Given the description of an element on the screen output the (x, y) to click on. 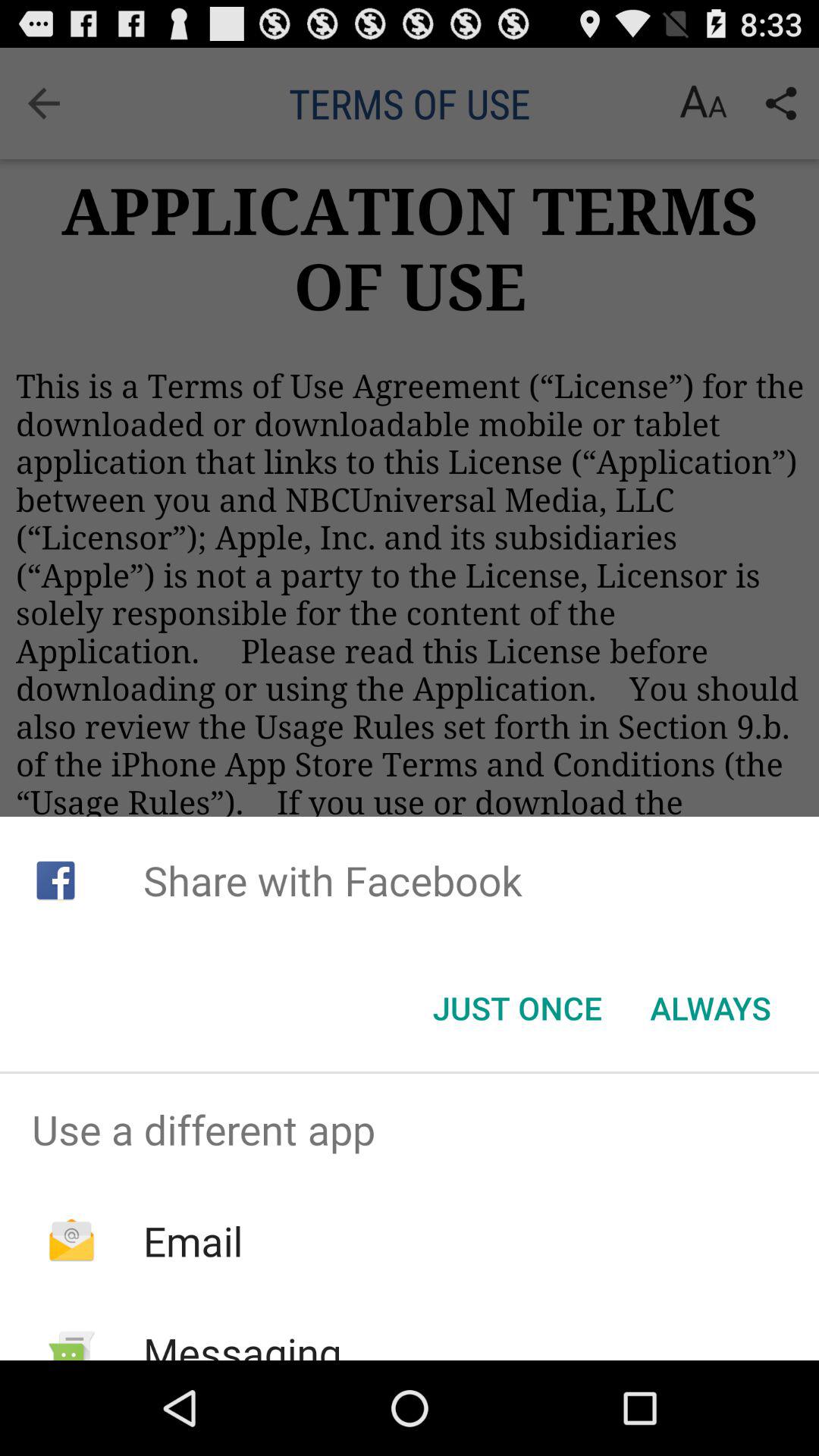
open the icon next to always item (517, 1007)
